Given the description of an element on the screen output the (x, y) to click on. 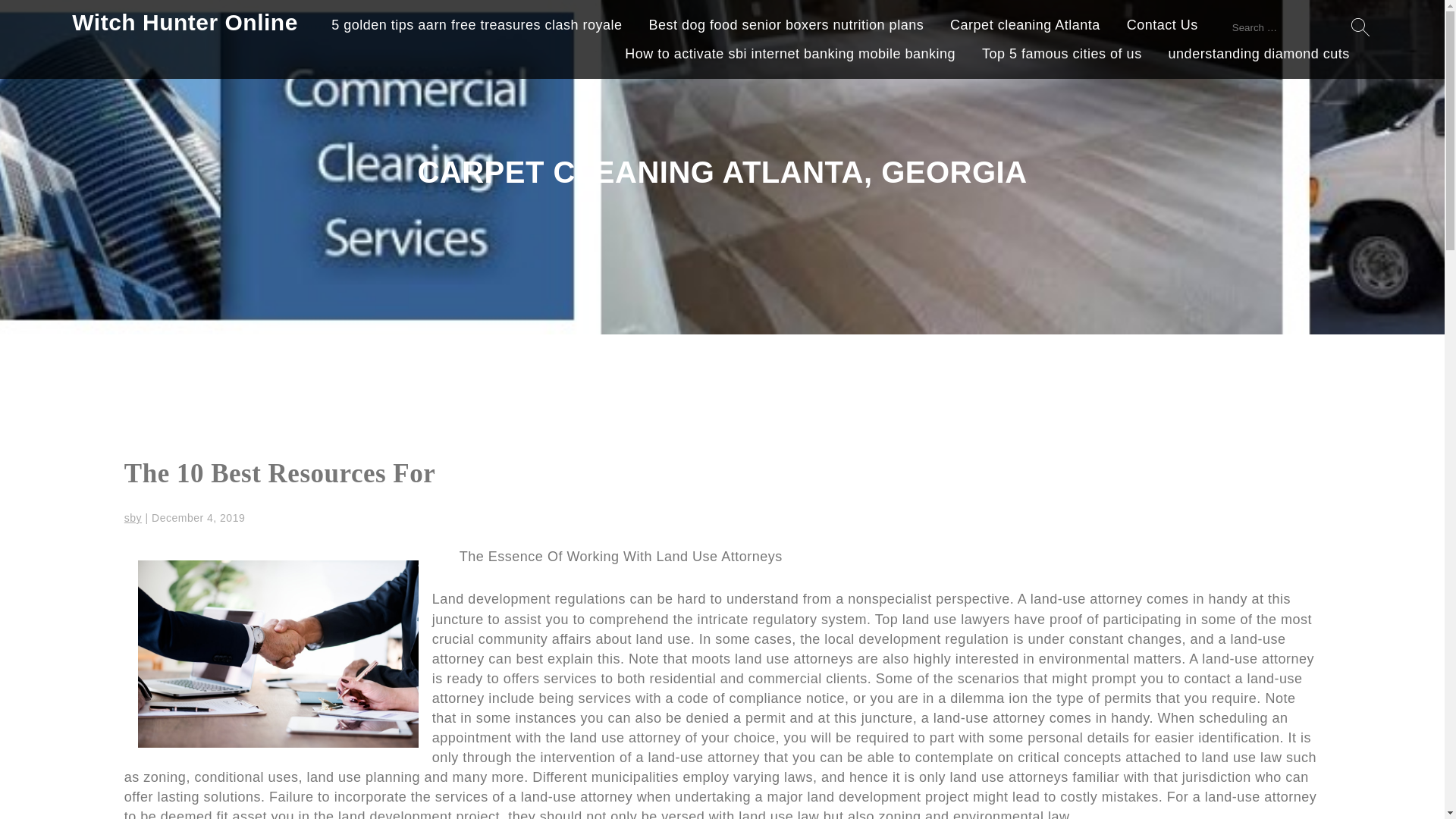
The 10 Best Resources For (279, 473)
How to activate sbi internet banking mobile banking (789, 56)
Posts by sby (132, 517)
Best dog food senior boxers nutrition plans (785, 27)
Top 5 famous cities of us (1061, 56)
Witch Hunter Online (184, 22)
understanding diamond cuts (1259, 56)
The 10 Best Resources For (279, 473)
Contact Us (1162, 27)
Witch Hunter Online (184, 22)
